Given the description of an element on the screen output the (x, y) to click on. 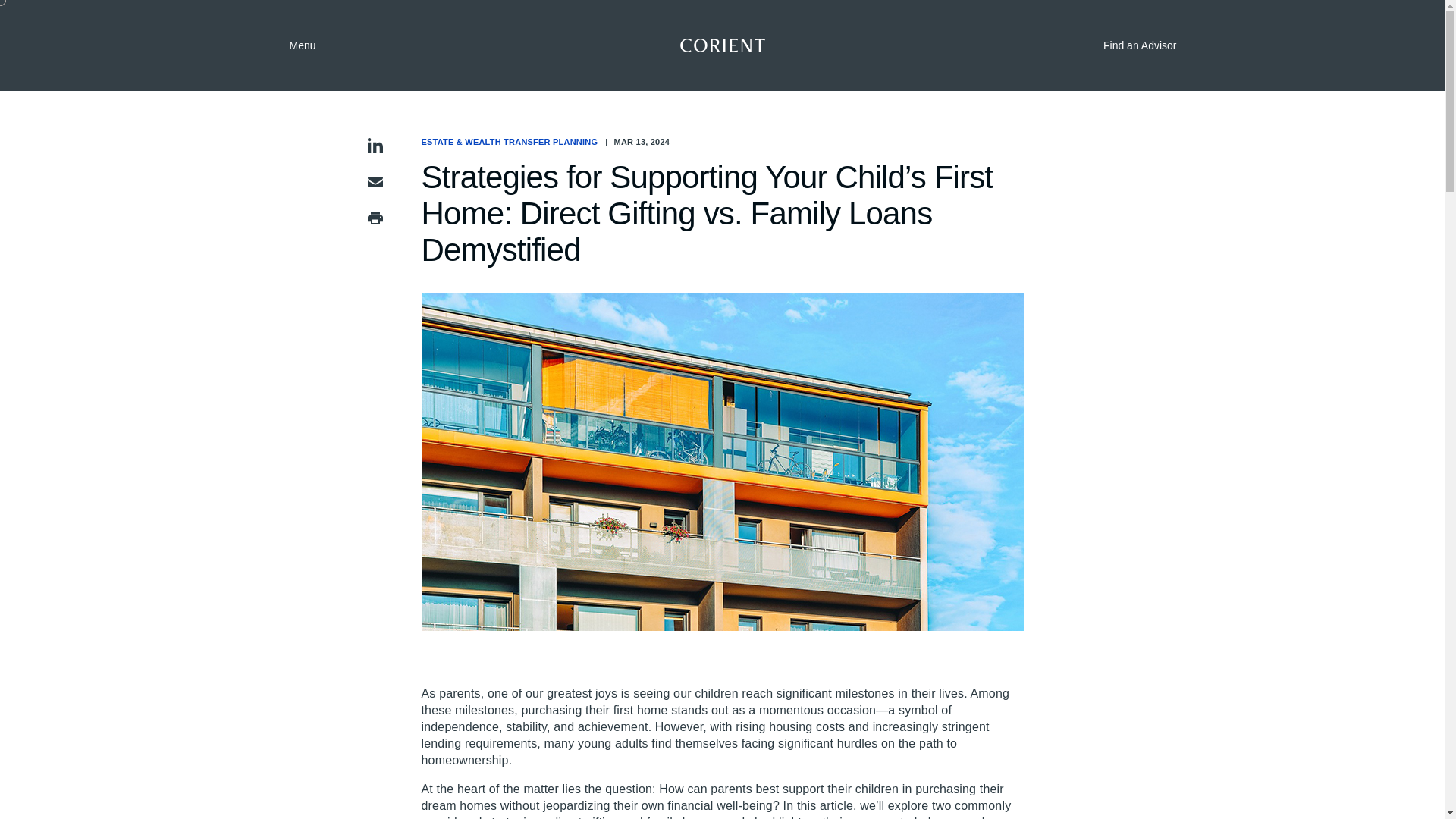
Back to the homepage (722, 45)
Find an Advisor (1128, 45)
Print page (374, 218)
Share by Email (374, 181)
Share on LinkedIn (374, 145)
Menu (291, 45)
